Given the description of an element on the screen output the (x, y) to click on. 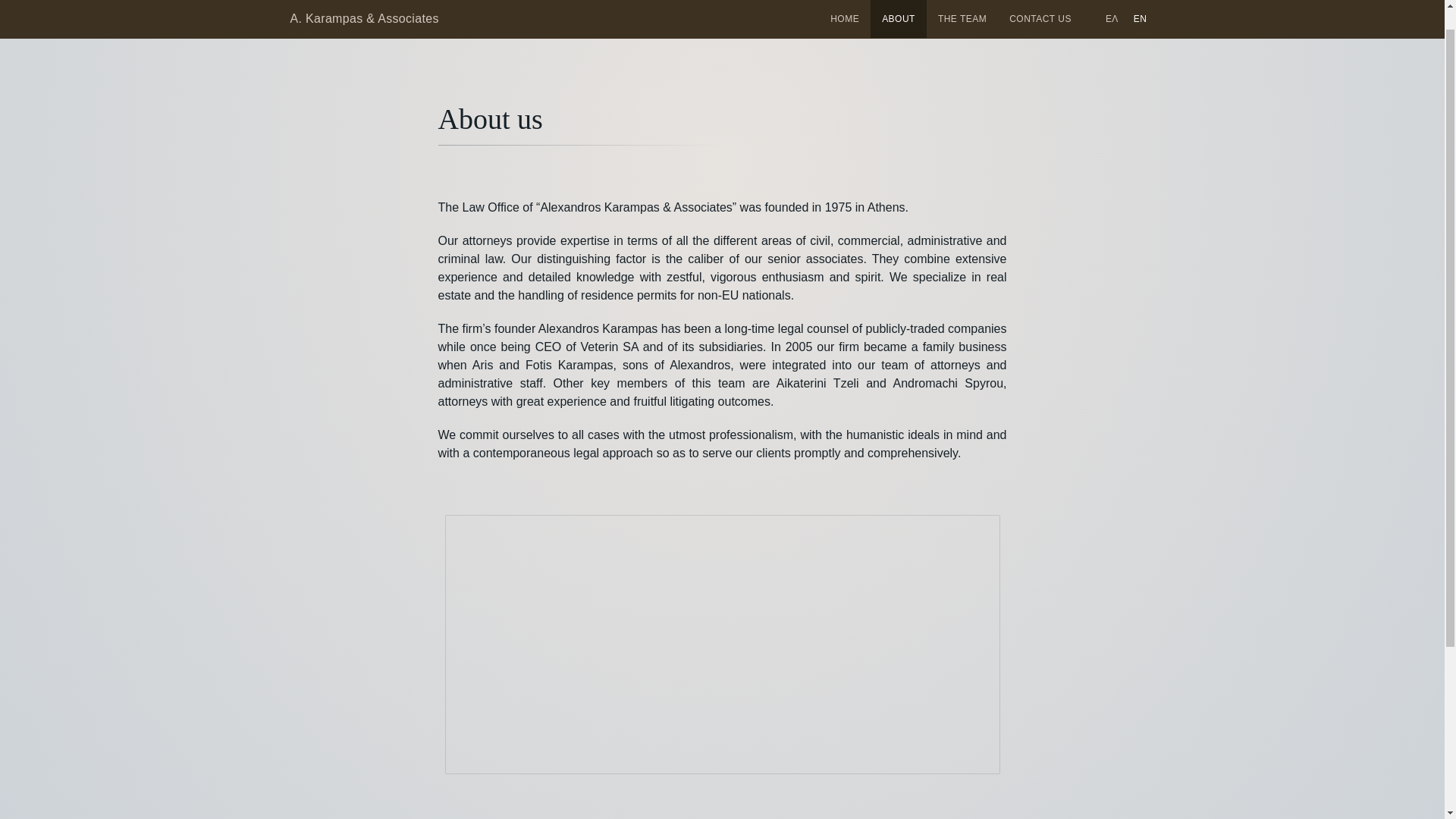
EN (1139, 6)
THE TEAM (961, 6)
ABOUT (898, 6)
HOME (844, 6)
CONTACT US (1040, 6)
